Given the description of an element on the screen output the (x, y) to click on. 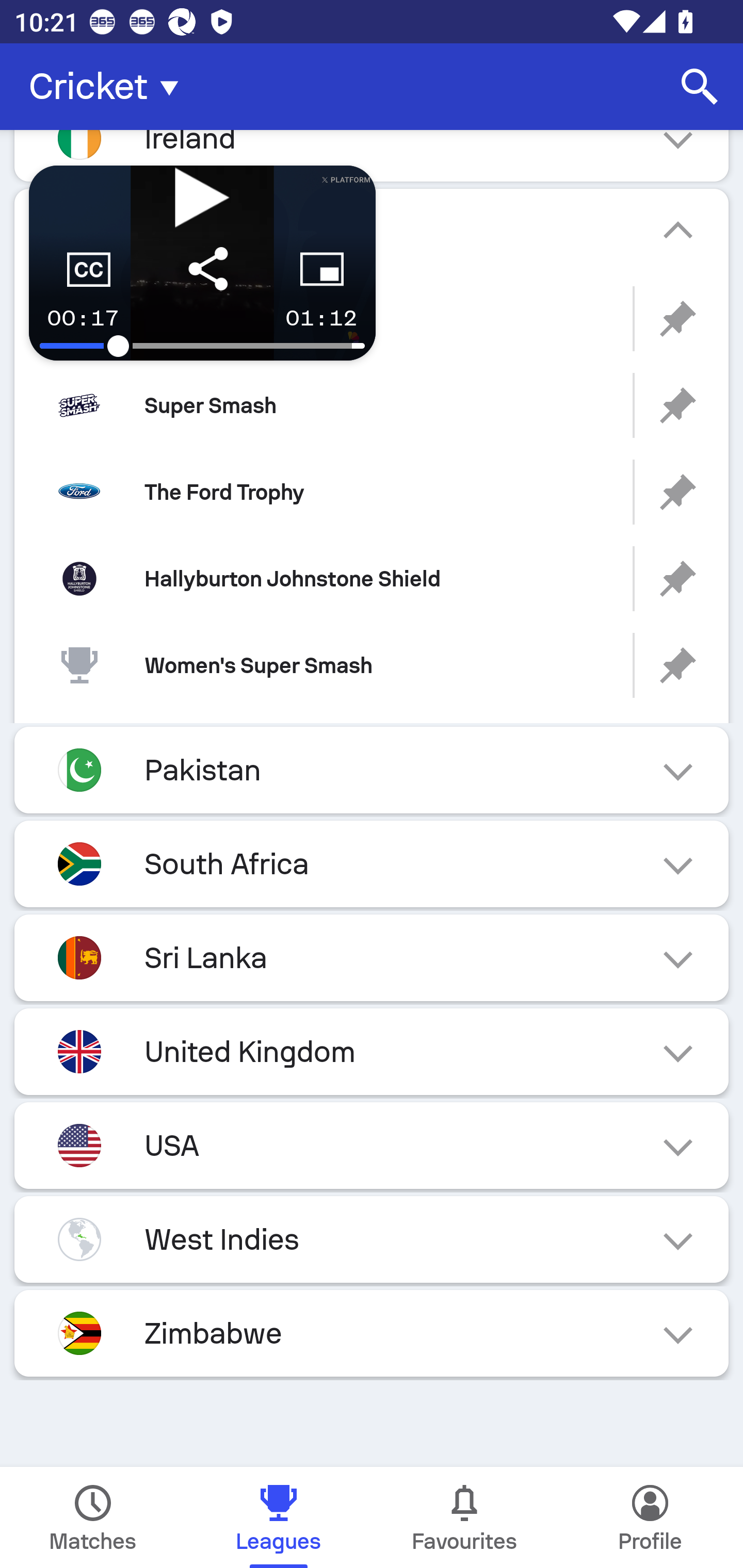
Cricket (109, 86)
Search (699, 86)
Super Smash (371, 405)
The Ford Trophy (371, 491)
Hallyburton Johnstone Shield (371, 578)
Women's Super Smash (371, 665)
Pakistan (371, 769)
South Africa (371, 863)
Sri Lanka (371, 957)
United Kingdom (371, 1051)
USA (371, 1145)
West Indies (371, 1239)
Zimbabwe (371, 1333)
Matches (92, 1517)
Favourites (464, 1517)
Profile (650, 1517)
